Given the description of an element on the screen output the (x, y) to click on. 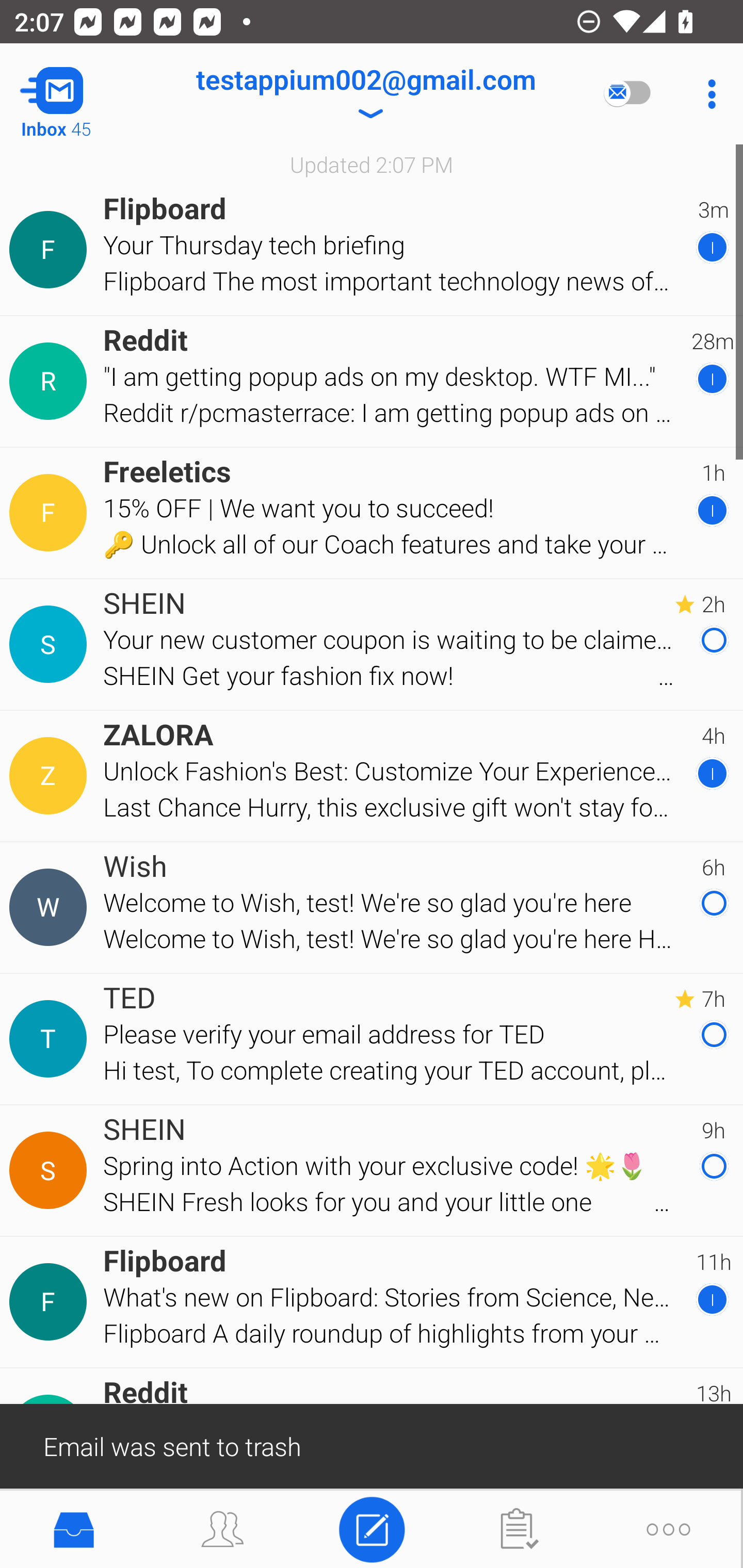
Navigate up (81, 93)
testappium002@gmail.com (365, 93)
More Options (706, 93)
Updated 2:07 PM (371, 164)
Contact Details (50, 250)
Contact Details (50, 381)
Contact Details (50, 513)
Contact Details (50, 644)
Contact Details (50, 776)
Contact Details (50, 907)
Contact Details (50, 1038)
Contact Details (50, 1170)
Contact Details (50, 1302)
Email was sent to trash (371, 1445)
Compose (371, 1528)
